Given the description of an element on the screen output the (x, y) to click on. 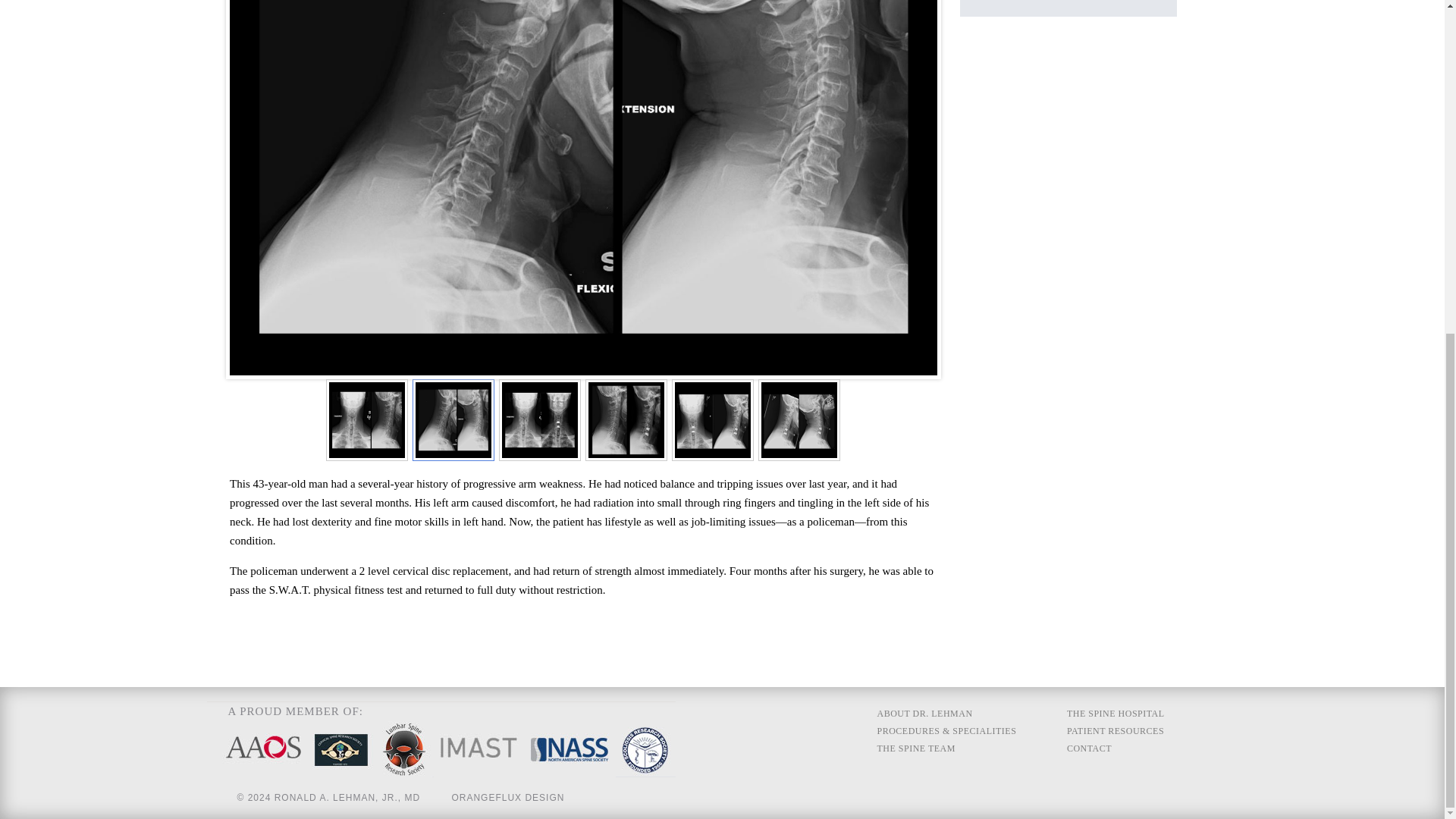
CSRS (340, 773)
NAAS (568, 773)
LSRS (404, 773)
SRS (645, 773)
AAOS (263, 773)
IMAST (478, 773)
